Given the description of an element on the screen output the (x, y) to click on. 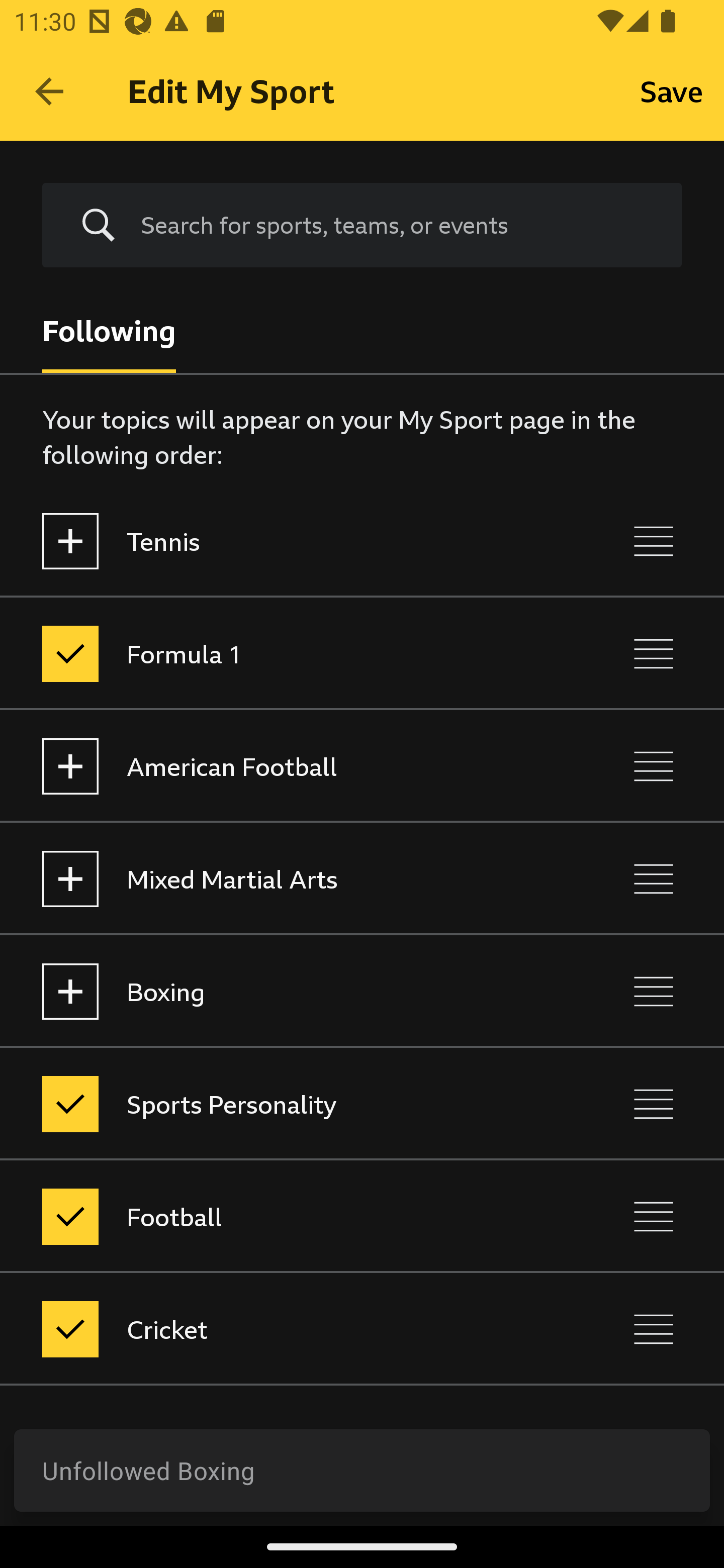
Navigate up (49, 91)
Save (671, 90)
Search for sports, teams, or events (361, 225)
Search for sports, teams, or events (396, 224)
Tennis (277, 540)
Reorder Tennis (653, 540)
Formula 1 (277, 653)
Reorder Formula 1 (653, 653)
American Football (277, 766)
Reorder American Football (653, 766)
Mixed Martial Arts (277, 878)
Reorder Mixed Martial Arts (653, 878)
Boxing (277, 990)
Reorder Boxing (653, 990)
Sports Personality (277, 1103)
Reorder Sports Personality (653, 1103)
Football (277, 1216)
Reorder Football (653, 1216)
Cricket (277, 1329)
Reorder Cricket (653, 1329)
